Given the description of an element on the screen output the (x, y) to click on. 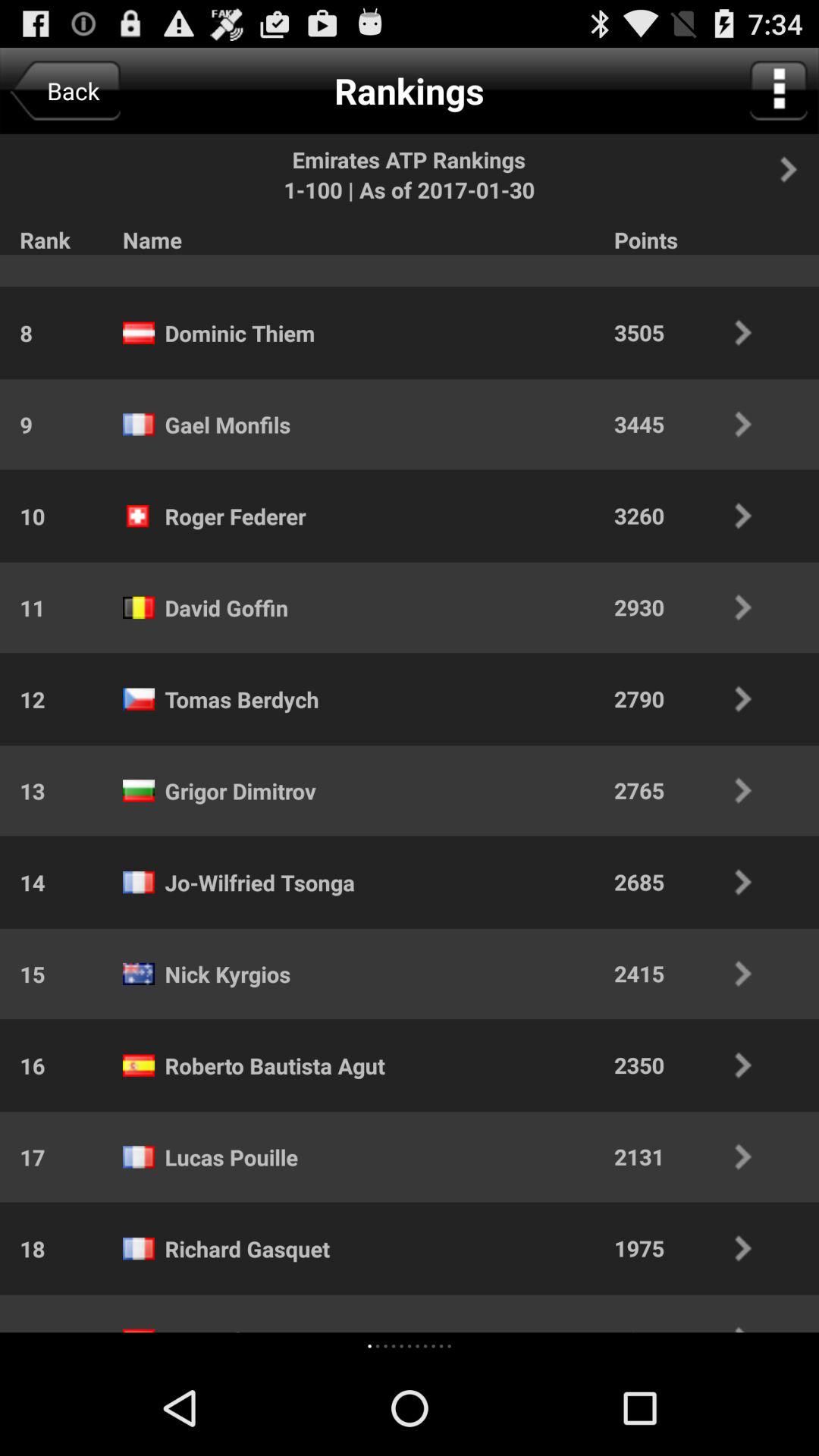
tap the item above 9 (16, 332)
